Given the description of an element on the screen output the (x, y) to click on. 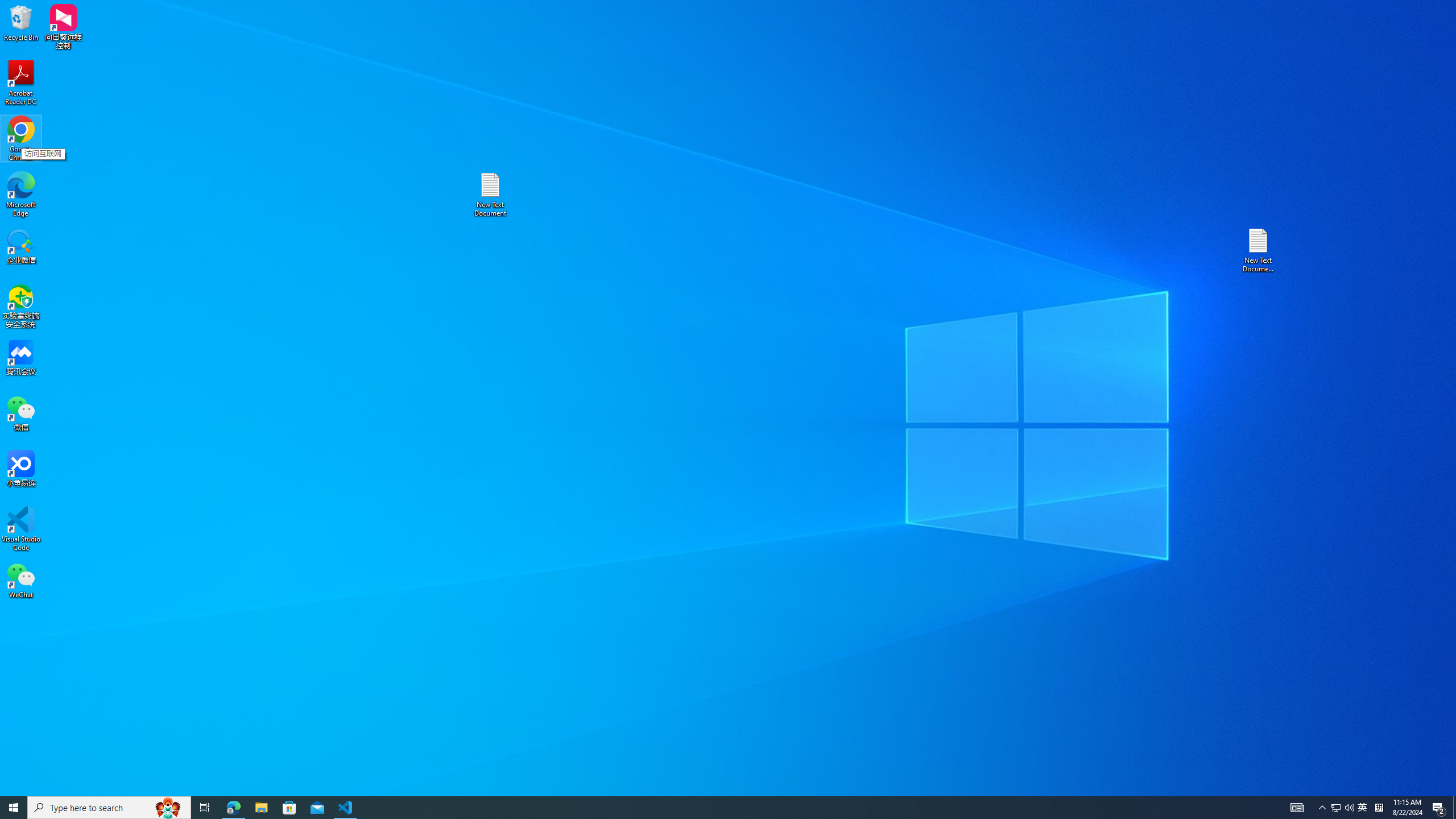
New Text Document (2) (1258, 250)
Google Chrome (21, 138)
Running applications (707, 807)
Recycle Bin (21, 22)
